Given the description of an element on the screen output the (x, y) to click on. 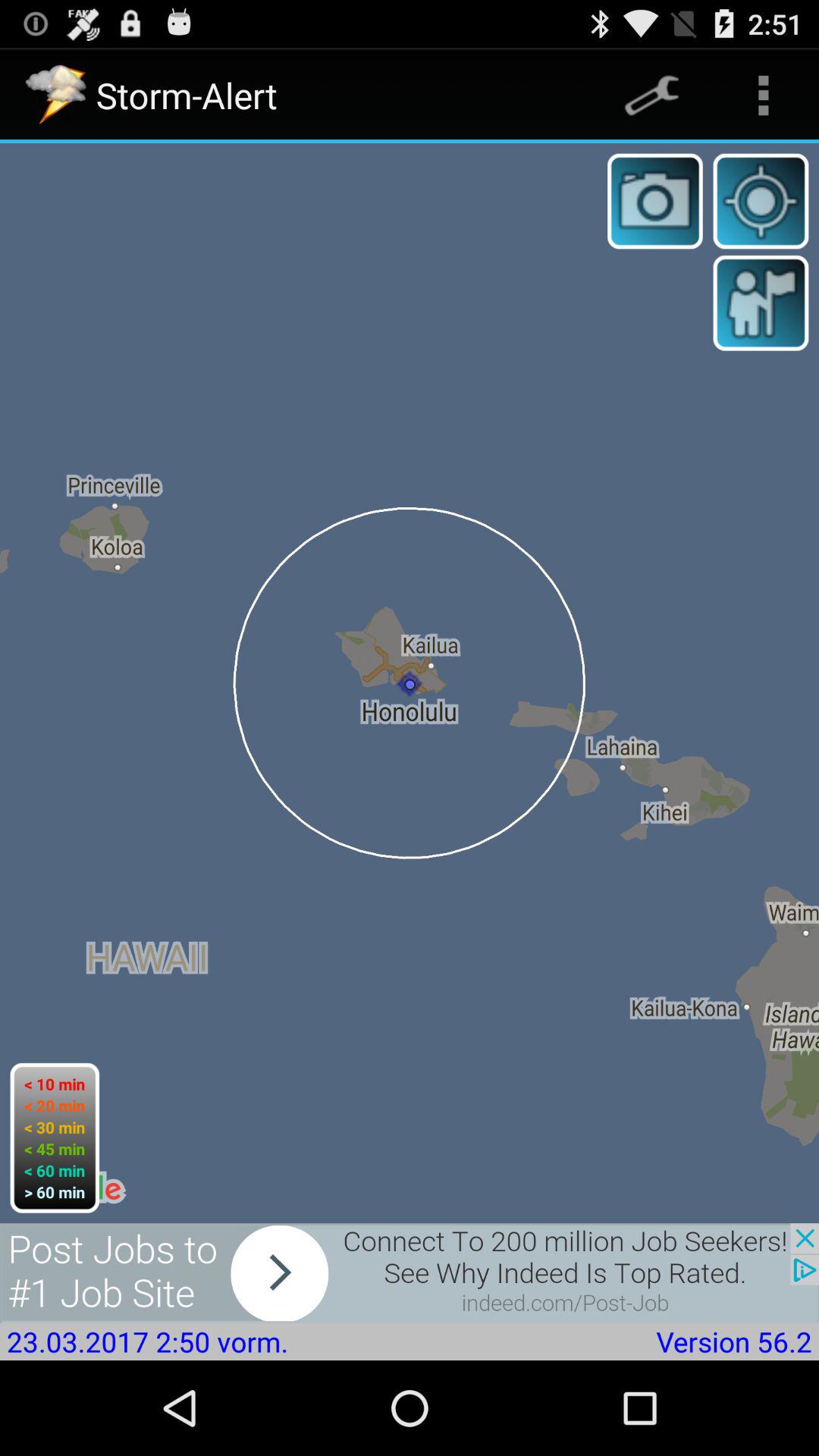
takes a photo (654, 201)
